Given the description of an element on the screen output the (x, y) to click on. 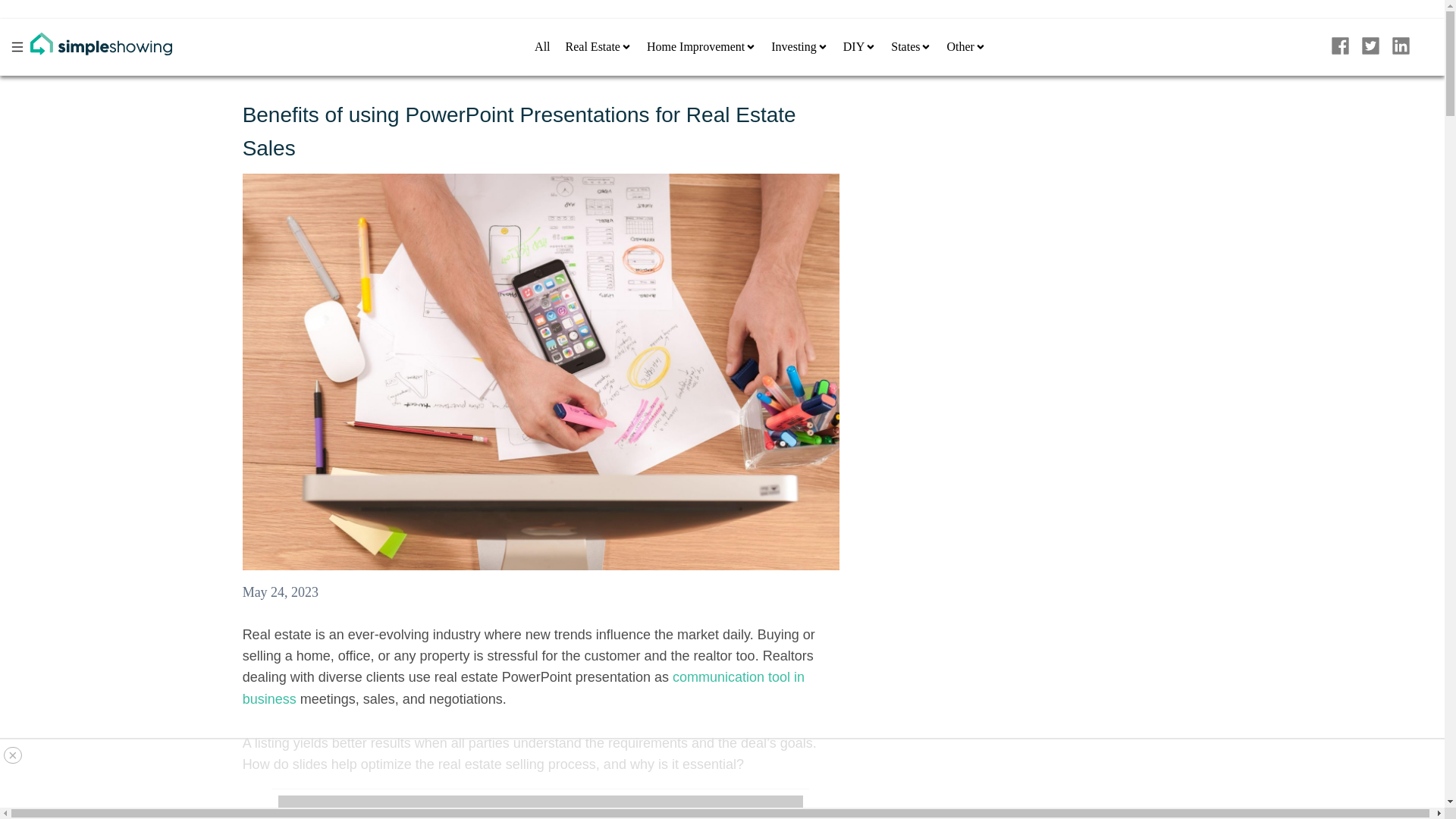
Other (960, 46)
communication tool in business (524, 687)
States (905, 46)
All (542, 46)
Investing (793, 46)
DIY (853, 46)
Home Improvement (695, 46)
Real Estate (593, 46)
